Given the description of an element on the screen output the (x, y) to click on. 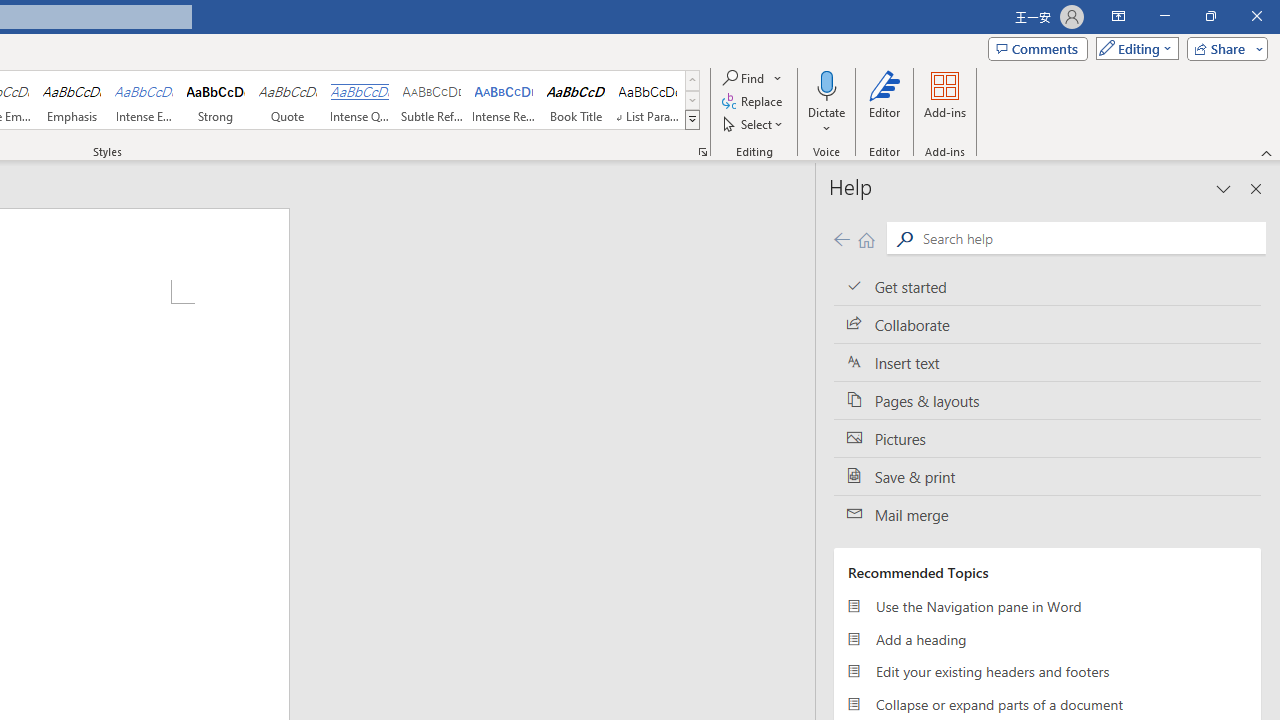
Intense Quote (359, 100)
